Given the description of an element on the screen output the (x, y) to click on. 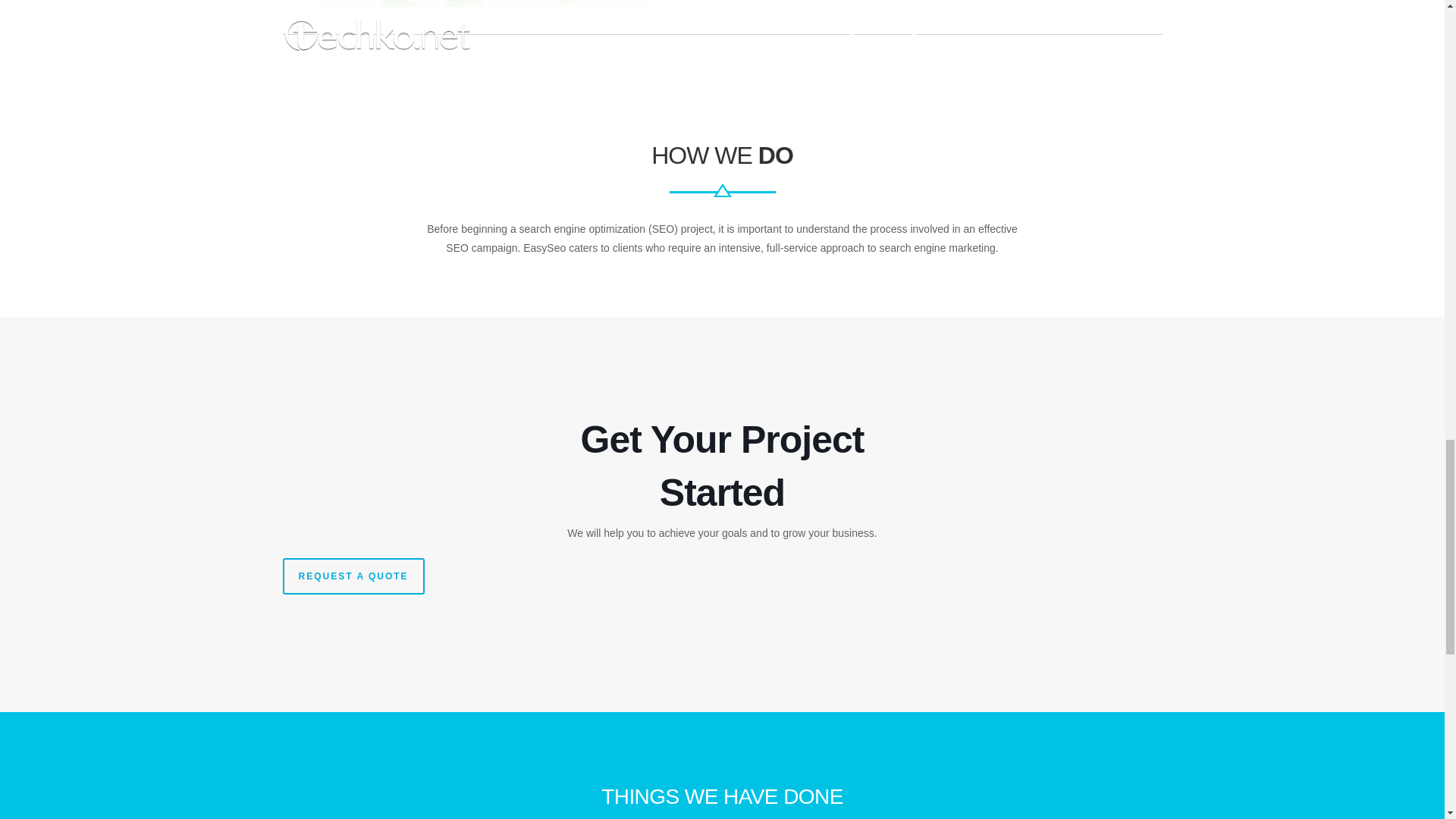
Search Engine Optimization (479, 3)
REQUEST A QUOTE (352, 575)
